Given the description of an element on the screen output the (x, y) to click on. 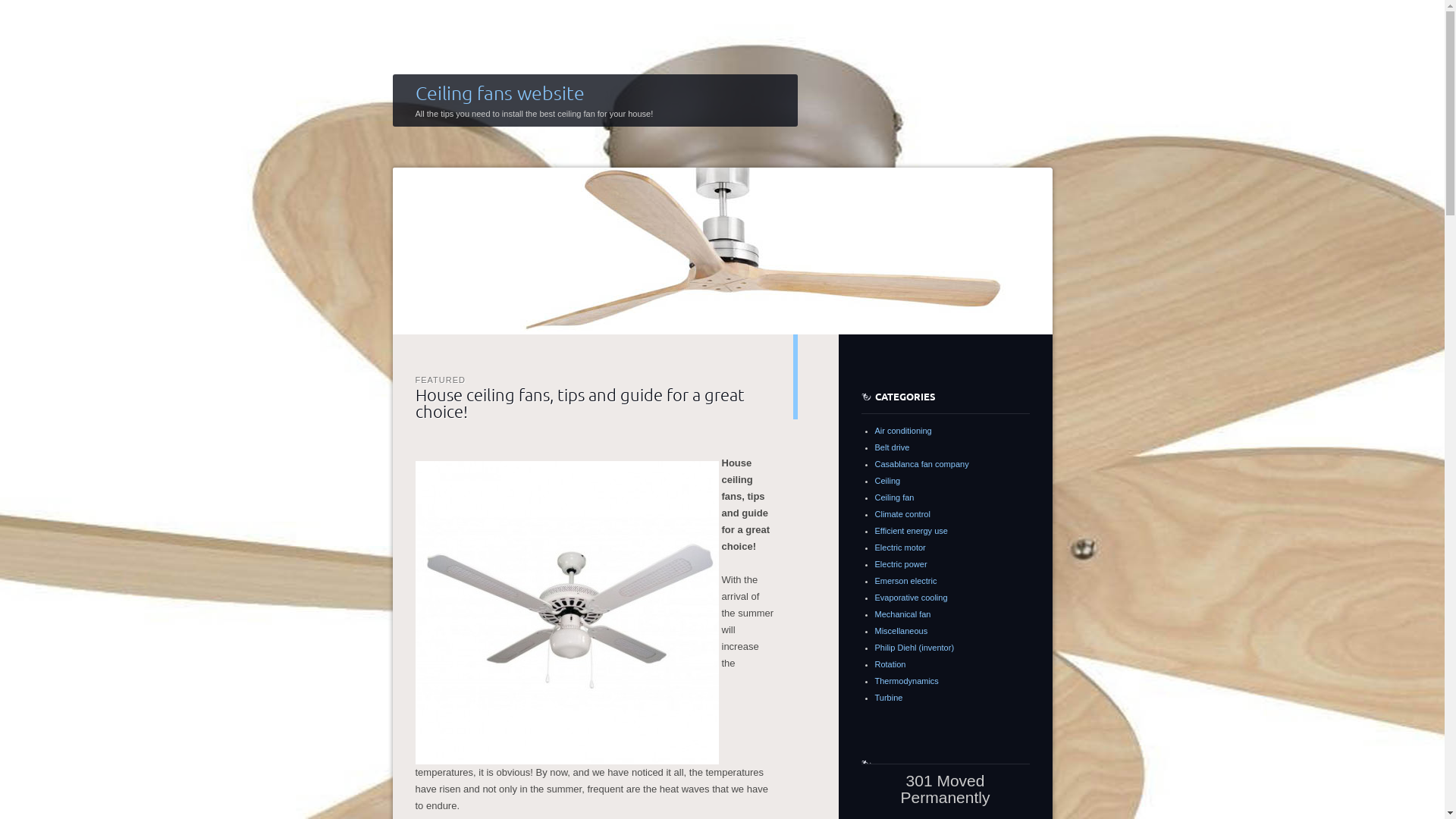
Rotation Element type: text (890, 663)
Philip Diehl (inventor) Element type: text (914, 647)
Miscellaneous Element type: text (901, 630)
Evaporative cooling Element type: text (911, 597)
Mechanical fan Element type: text (903, 613)
Electric power Element type: text (901, 563)
Ceiling fan Element type: text (894, 497)
Efficient energy use Element type: text (911, 530)
Air conditioning Element type: text (903, 430)
Climate control Element type: text (902, 513)
Emerson electric Element type: text (906, 580)
Turbine Element type: text (889, 697)
Belt drive Element type: text (892, 446)
Ceiling Element type: text (887, 480)
House ceiling fans, tips and guide for a great choice! Element type: text (579, 401)
Casablanca fan company Element type: text (922, 463)
Electric motor Element type: text (900, 547)
Ceiling fans website Element type: text (499, 92)
Thermodynamics Element type: text (906, 680)
